Given the description of an element on the screen output the (x, y) to click on. 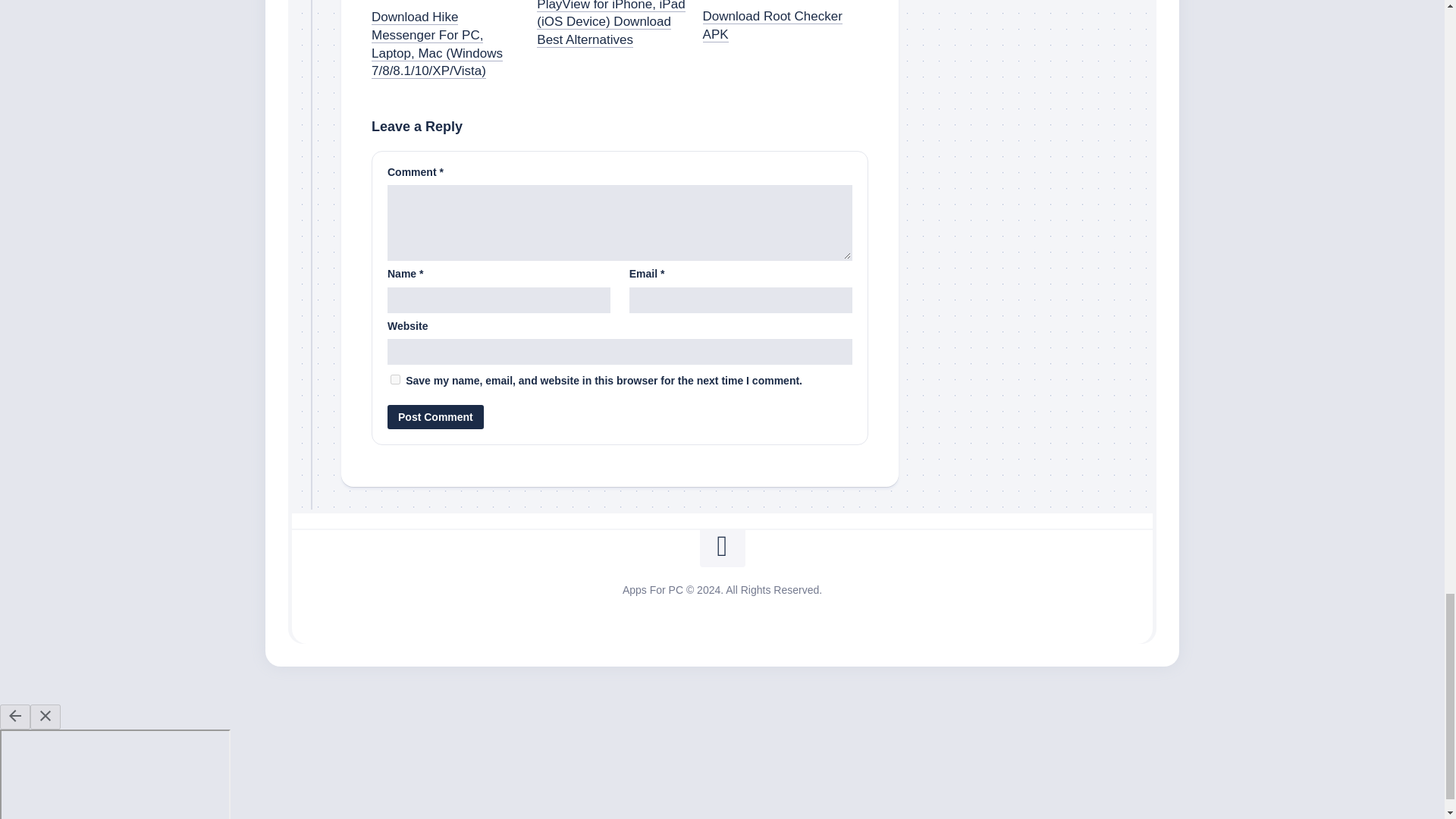
yes (395, 379)
Post Comment (435, 416)
